Given the description of an element on the screen output the (x, y) to click on. 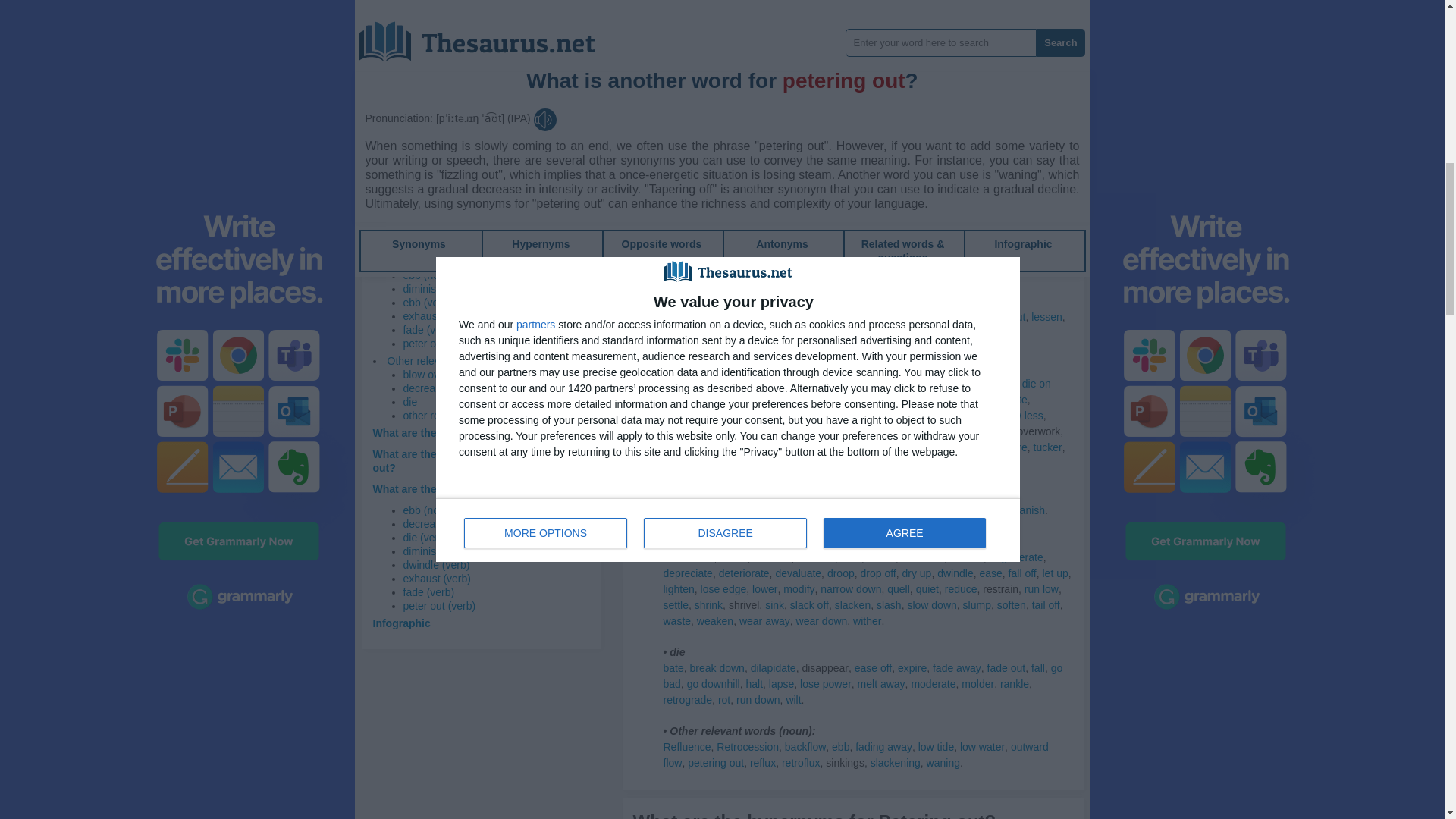
Synonyms for Petering out (758, 30)
decrease (424, 387)
Synonyms for Petering out (737, 46)
What are the hypernyms for petering out? (477, 432)
Synonyms for Petering out (783, 46)
Synonyms for Petering out (1040, 30)
Synonyms for Petering out (906, 30)
What are the opposite words for petering out? (475, 460)
Other relevant words: (437, 360)
Synonyms for Petering out (689, 46)
Infographic (401, 623)
Synonyms for Petering out (840, 46)
Synonyms for Petering out (1023, 14)
Synonyms for Petering out (732, 14)
blow over (425, 374)
